Given the description of an element on the screen output the (x, y) to click on. 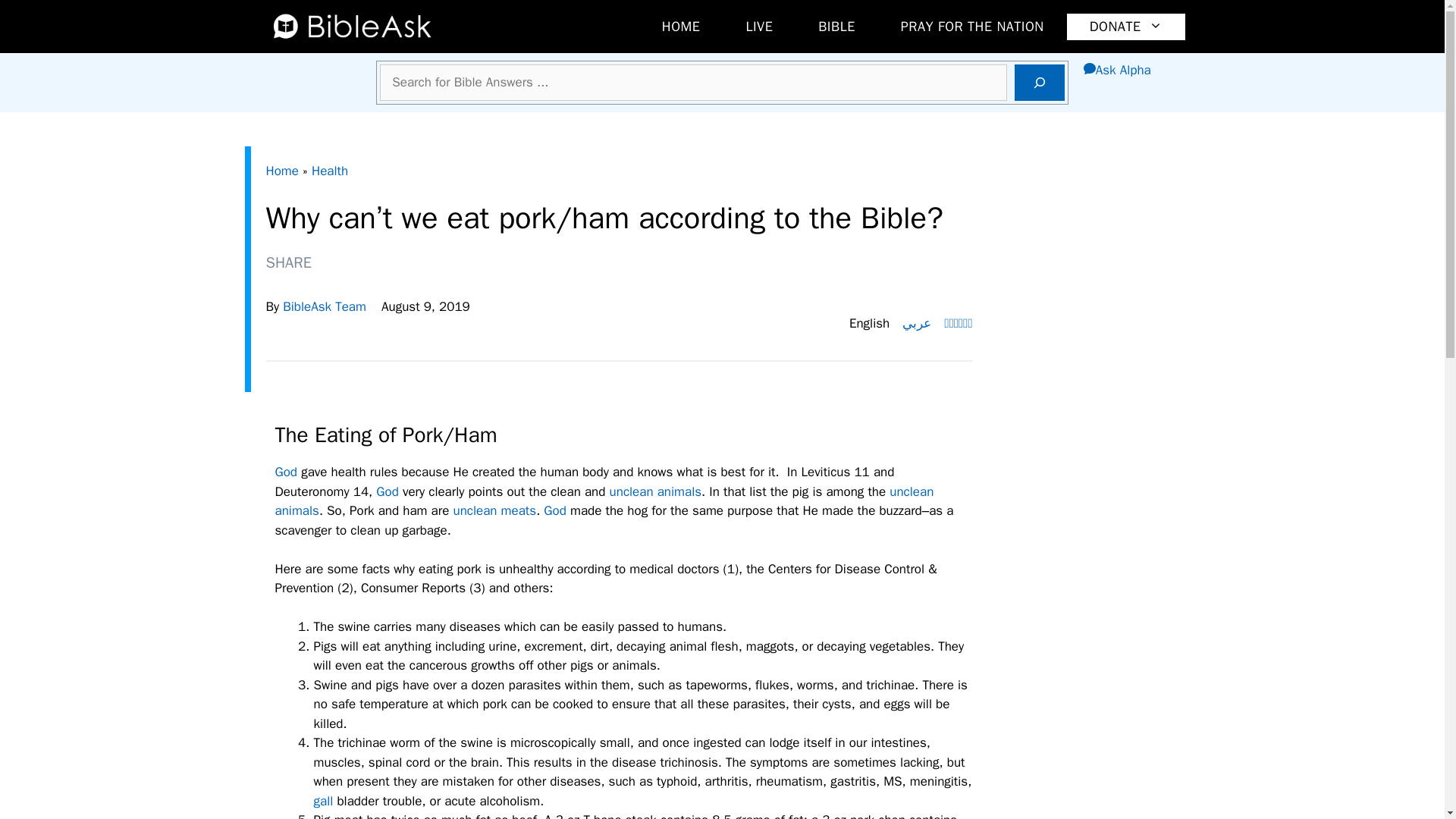
PRAY FOR THE NATION (972, 26)
BibleAsk Team (324, 306)
HOME (681, 26)
God (386, 491)
God (554, 510)
gall (323, 801)
unclean animals (655, 491)
God (286, 471)
unclean meats (493, 510)
God (554, 510)
